Given the description of an element on the screen output the (x, y) to click on. 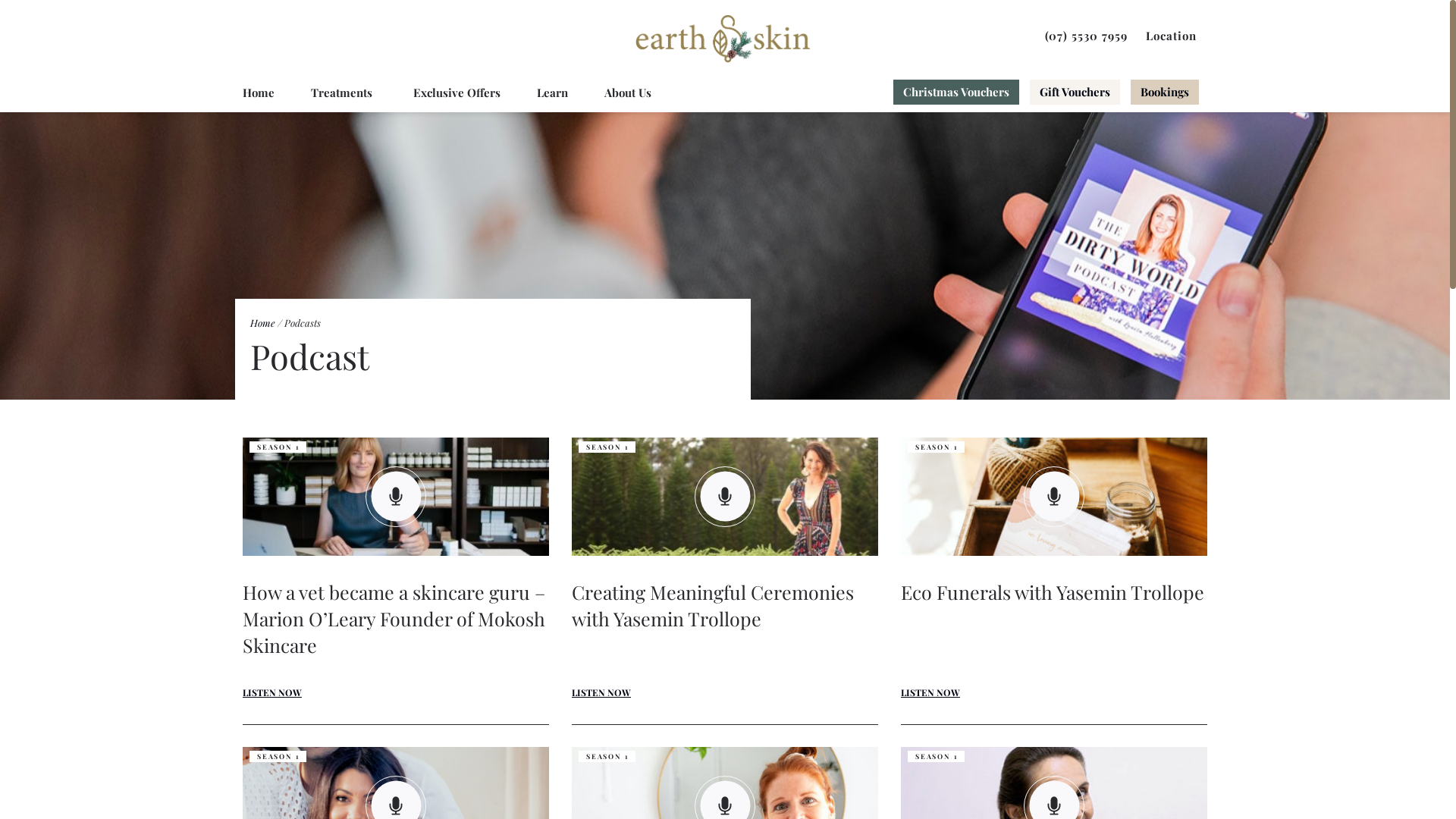
Treatments Element type: text (343, 92)
LISTEN NOW Element type: text (271, 692)
About Us Element type: text (627, 92)
LISTEN NOW Element type: text (600, 692)
Gift Vouchers Element type: text (1074, 91)
Creating Meaningful Ceremonies with Yasemin Trollope Element type: text (724, 618)
Home Element type: text (258, 92)
(07) 5530 7959 Element type: text (1085, 35)
Christmas Vouchers Element type: text (956, 91)
Learn Element type: text (551, 92)
Search Element type: text (1141, 37)
Exclusive Offers Element type: text (456, 92)
Bookings Element type: text (1163, 91)
LISTEN NOW Element type: text (930, 692)
Eco Funerals with Yasemin Trollope Element type: text (1052, 618)
Location Element type: text (1170, 35)
Home Element type: text (262, 321)
